Given the description of an element on the screen output the (x, y) to click on. 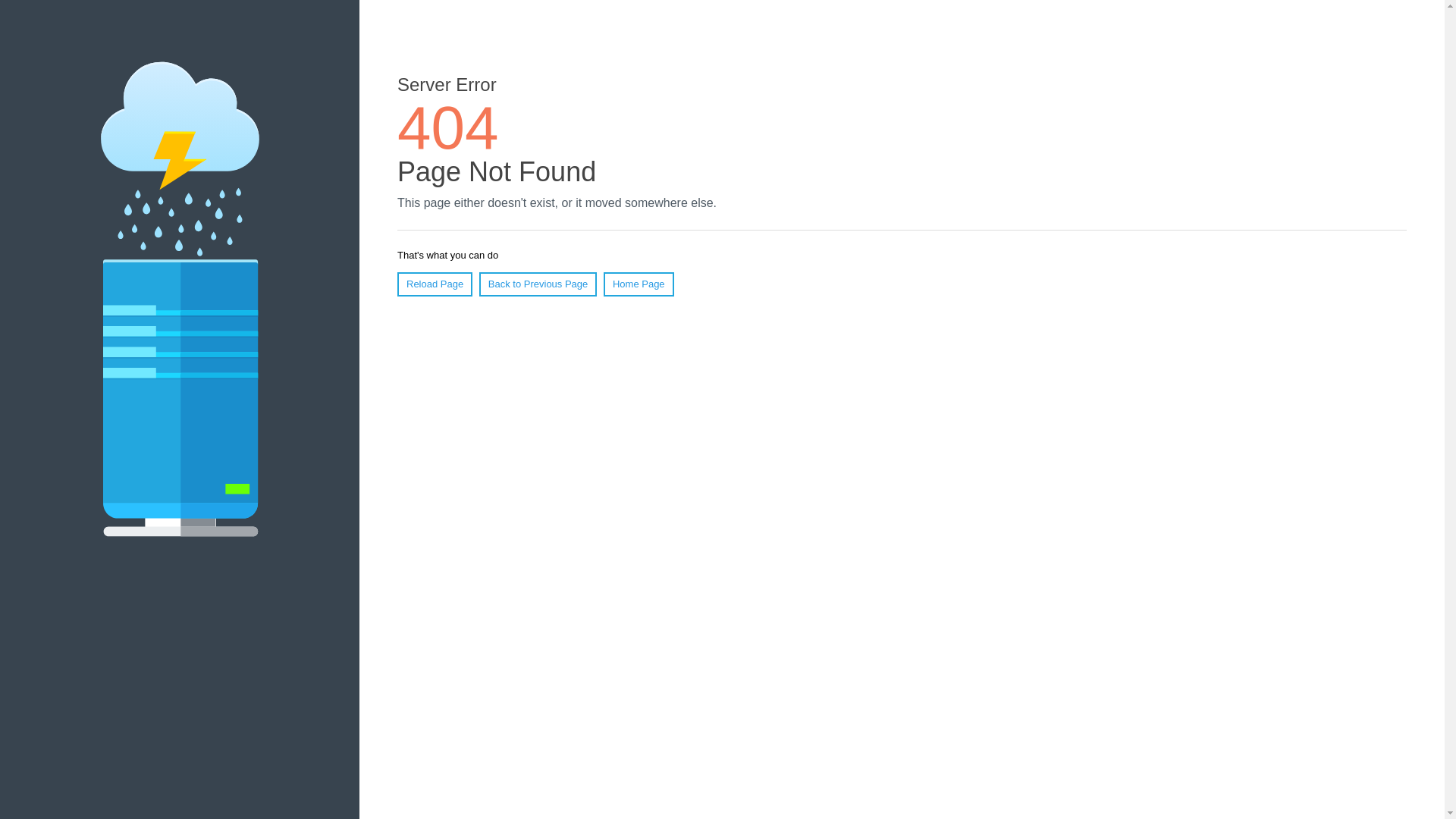
Reload Page Element type: text (434, 284)
Back to Previous Page Element type: text (538, 284)
Home Page Element type: text (638, 284)
